Given the description of an element on the screen output the (x, y) to click on. 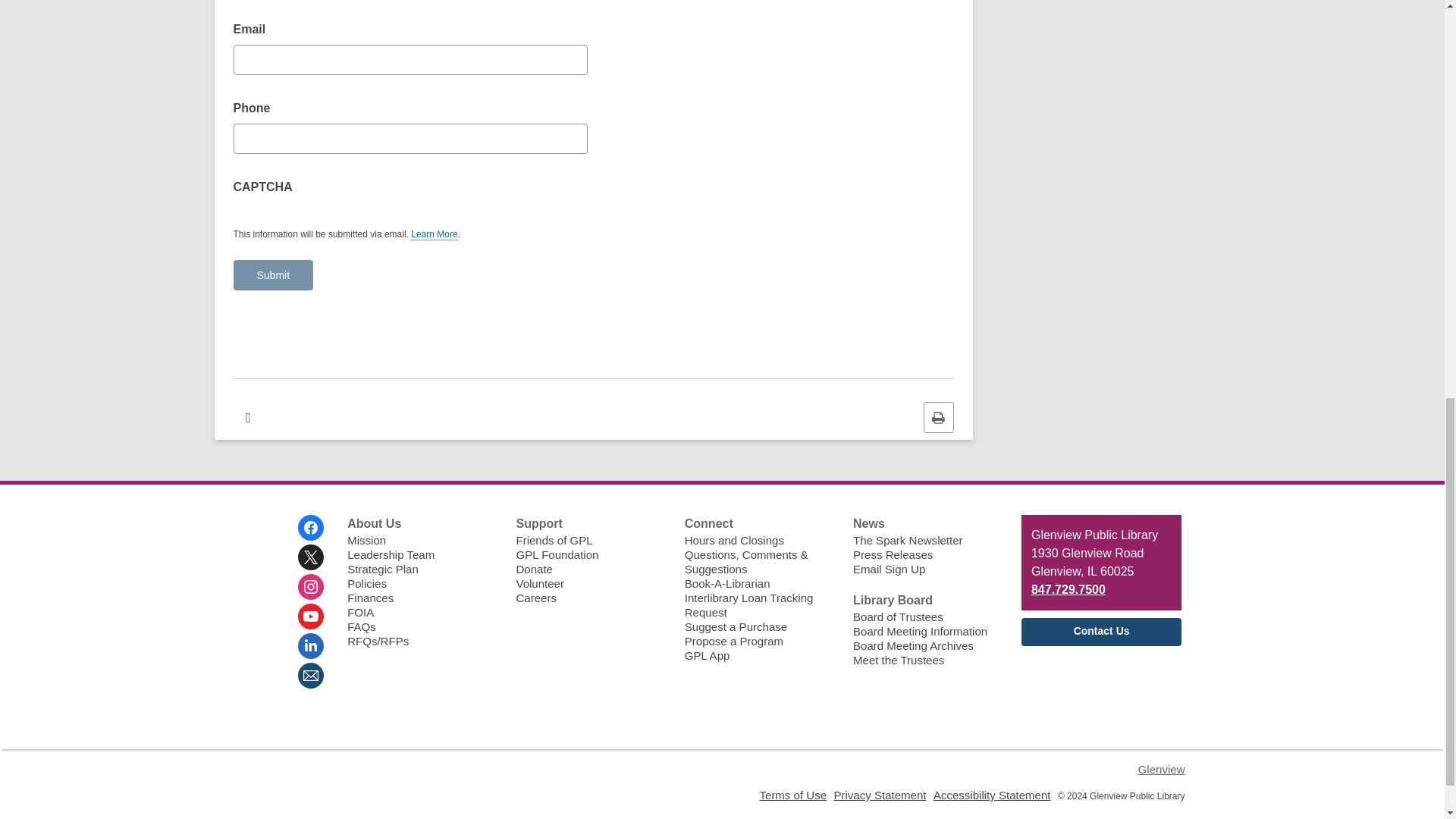
Submit (273, 275)
